Given the description of an element on the screen output the (x, y) to click on. 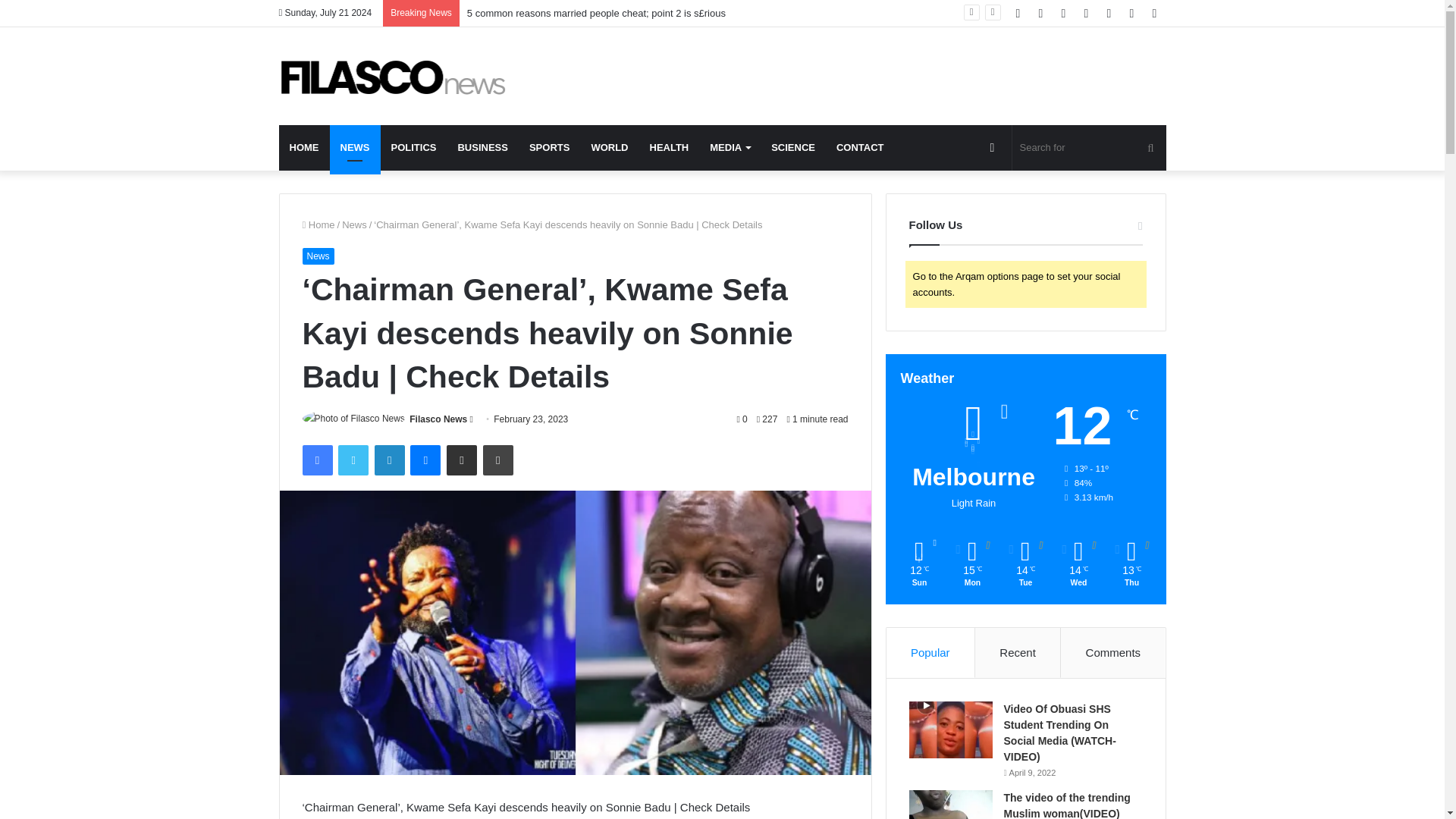
Share via Email (461, 460)
SCIENCE (792, 147)
Twitter (352, 460)
Twitter (352, 460)
Messenger (425, 460)
Filasco News (438, 419)
Search for (1088, 147)
Facebook (316, 460)
MEDIA (729, 147)
Messenger (425, 460)
NEWS (354, 147)
Home (317, 224)
LinkedIn (389, 460)
Facebook (316, 460)
News (354, 224)
